Given the description of an element on the screen output the (x, y) to click on. 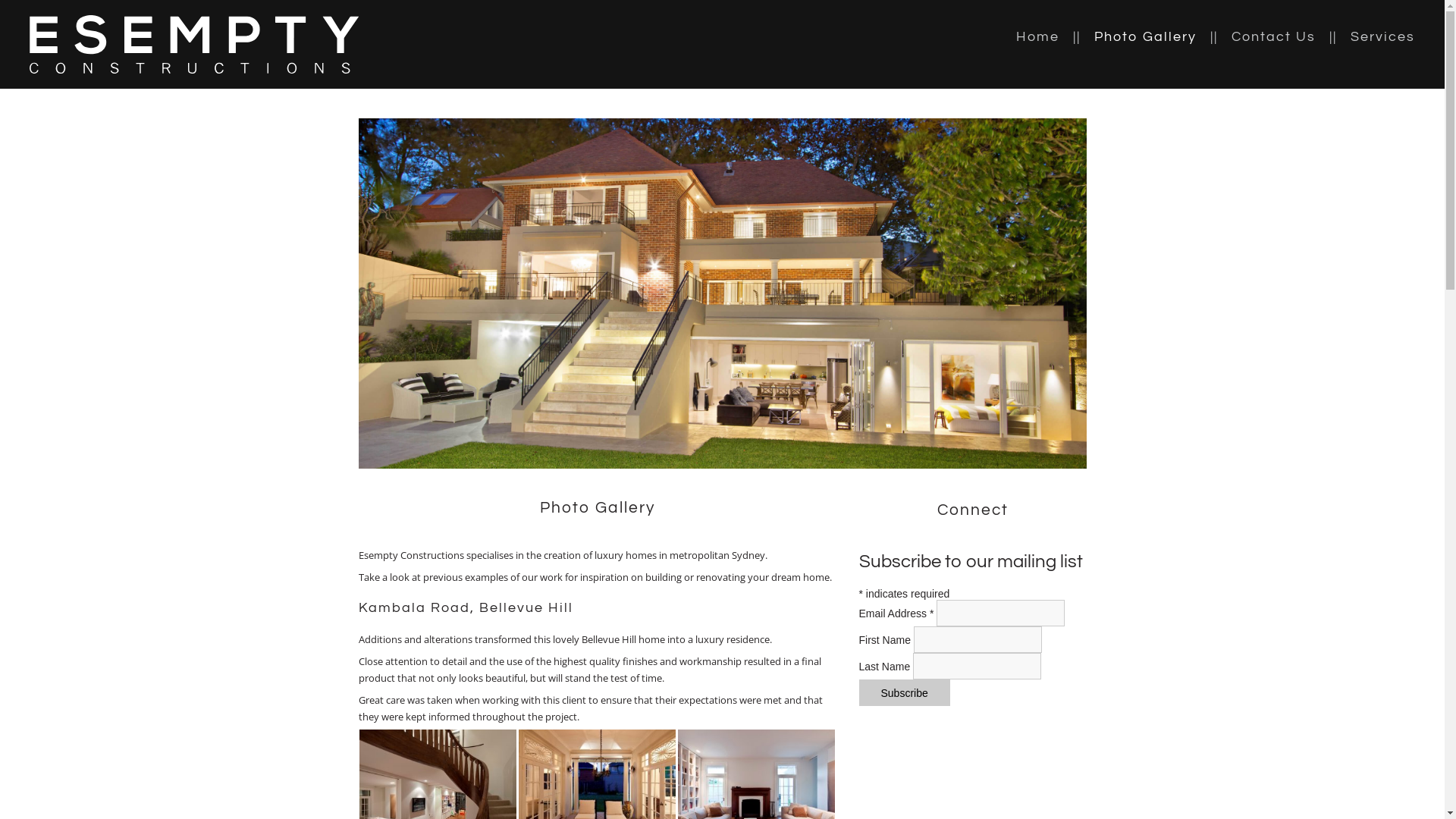
Photo Gallery Element type: text (1162, 36)
Subscribe Element type: text (903, 692)
Home Element type: text (1055, 36)
Return to homepage Element type: hover (193, 44)
Services Element type: text (1382, 36)
Contact Us Element type: text (1290, 36)
